Given the description of an element on the screen output the (x, y) to click on. 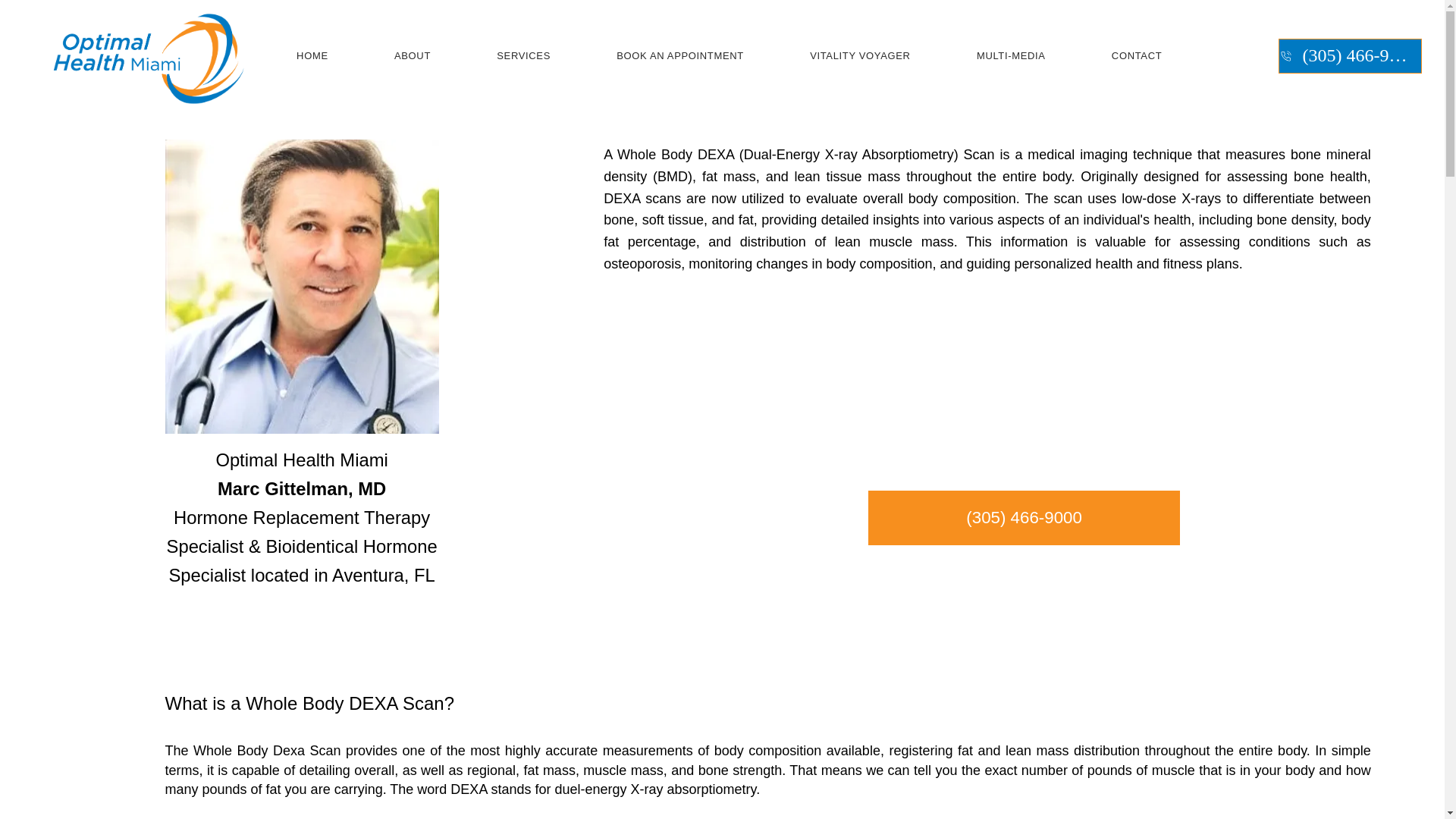
ABOUT (412, 55)
HOME (312, 55)
CONTACT (1136, 55)
VITALITY VOYAGER (860, 55)
MULTI-MEDIA (1010, 55)
BOOK AN APPOINTMENT (680, 55)
SERVICES (523, 55)
